Given the description of an element on the screen output the (x, y) to click on. 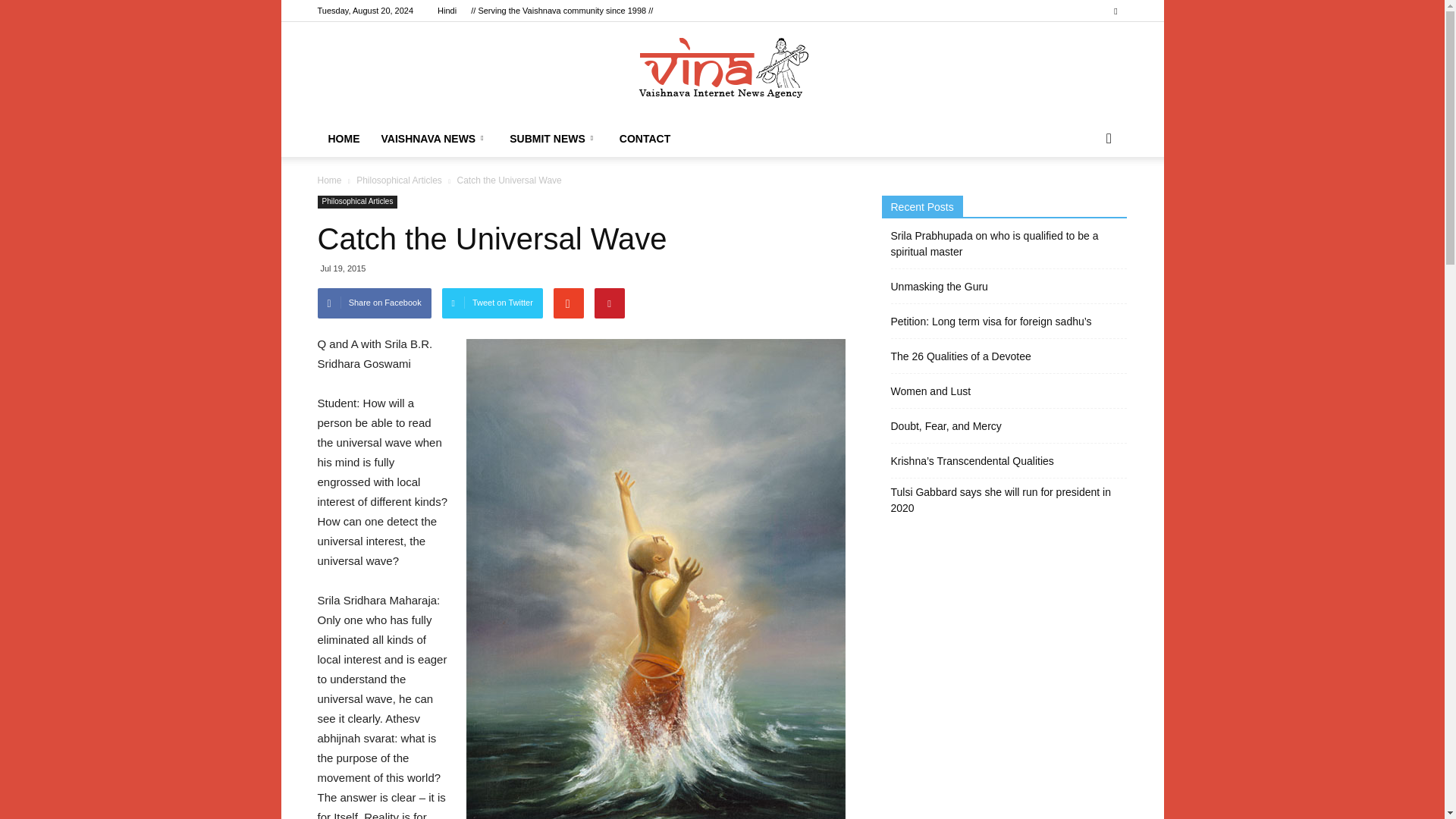
Home (328, 180)
CLOSE (140, 20)
VAISHNAVA NEWS (434, 138)
VAISHNAVA NEWS (140, 91)
SUBMIT NEWS (553, 138)
CONTACT (644, 138)
HOME (343, 138)
HOME (140, 57)
Hindi (447, 10)
SUBMIT NEWS (140, 125)
